Given the description of an element on the screen output the (x, y) to click on. 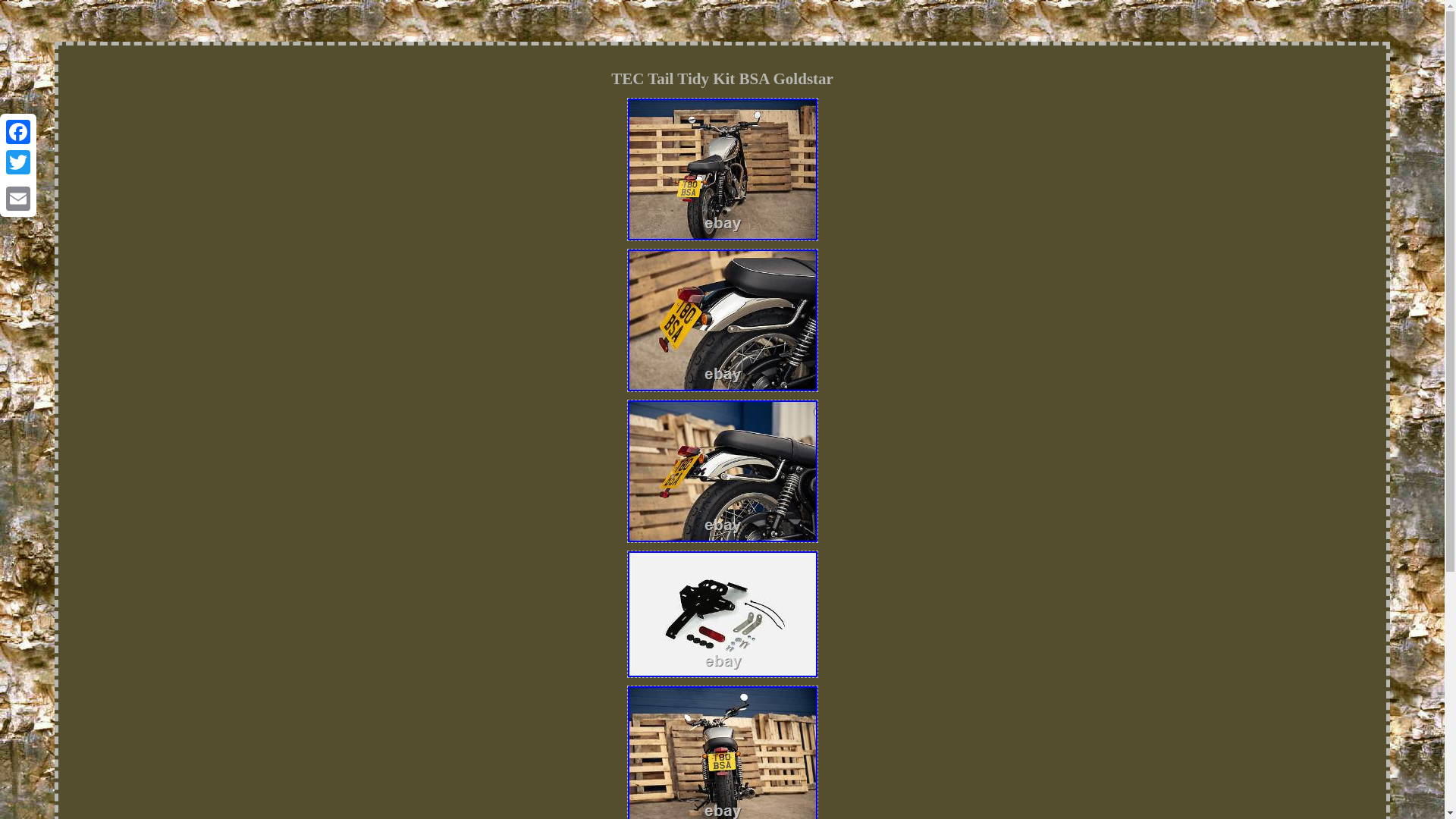
TEC Tail Tidy Kit BSA Goldstar (721, 168)
TEC Tail Tidy Kit BSA Goldstar (721, 614)
Email (17, 198)
TEC Tail Tidy Kit BSA Goldstar (721, 320)
TEC Tail Tidy Kit BSA Goldstar (721, 752)
Twitter (17, 162)
TEC Tail Tidy Kit BSA Goldstar (721, 470)
Facebook (17, 132)
